Given the description of an element on the screen output the (x, y) to click on. 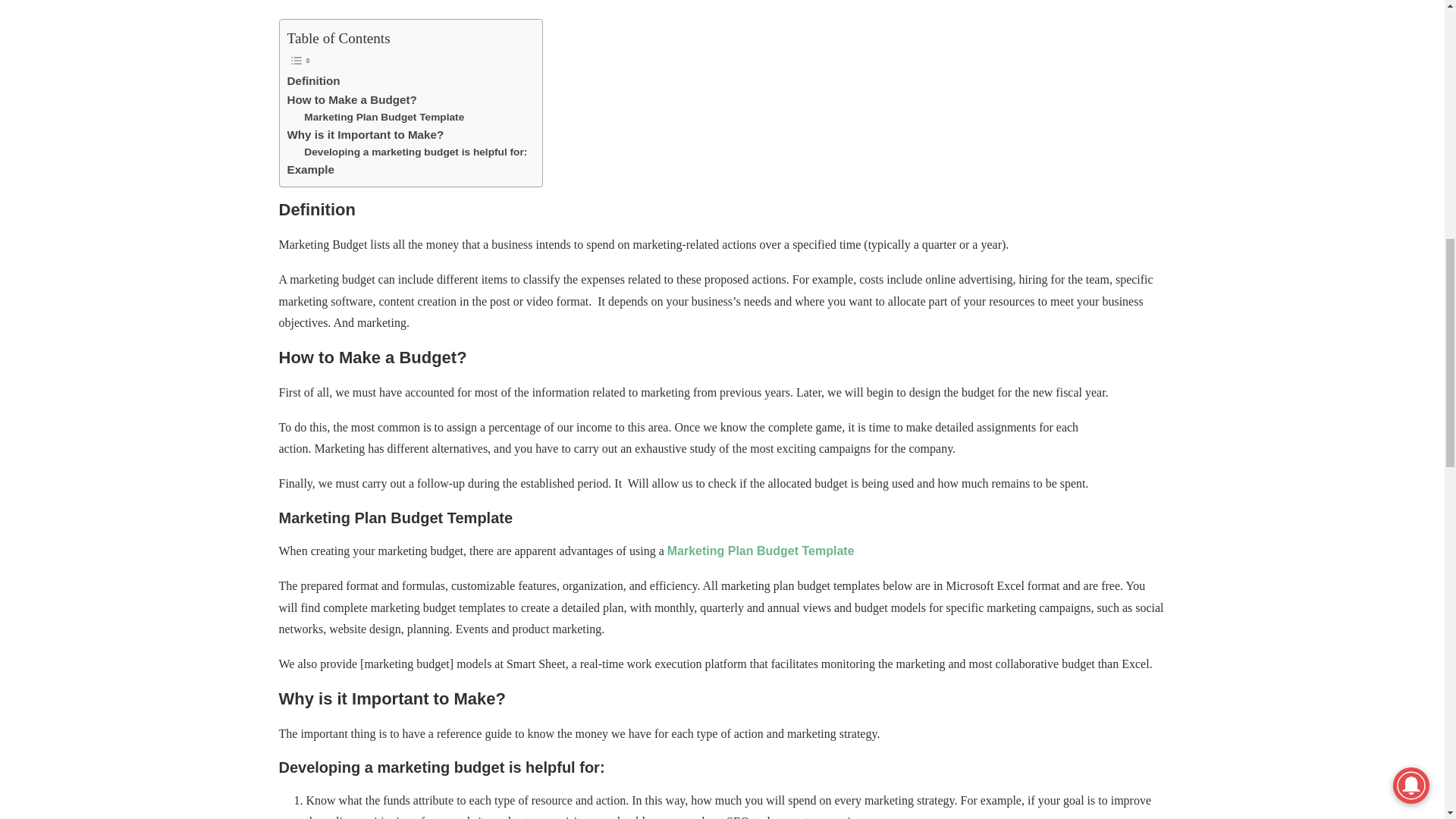
Marketing Plan Budget Template (384, 117)
How to Make a Budget? (351, 99)
Definition (312, 81)
Example (309, 169)
Why is it Important to Make? (365, 135)
Developing a marketing budget is helpful for: (415, 152)
